Given the description of an element on the screen output the (x, y) to click on. 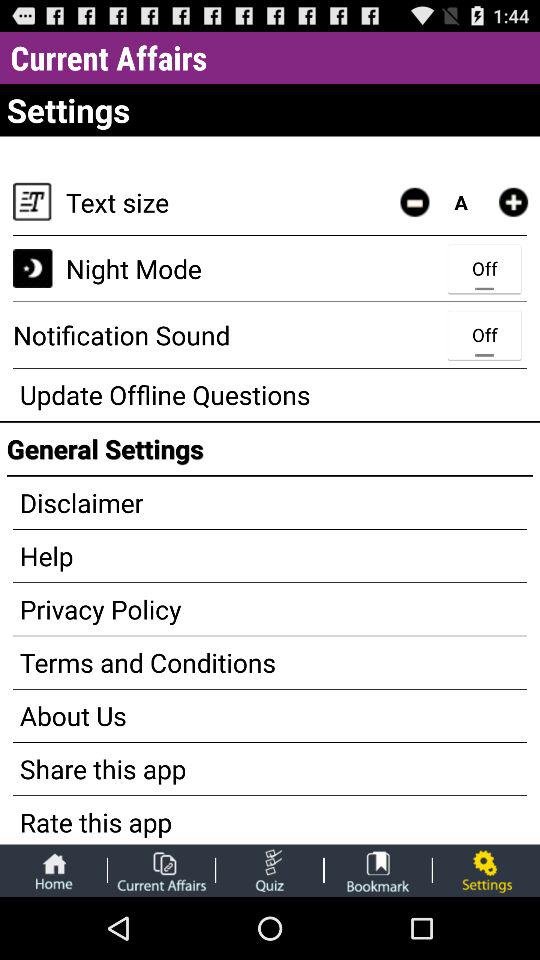
make text smaller (414, 202)
